Given the description of an element on the screen output the (x, y) to click on. 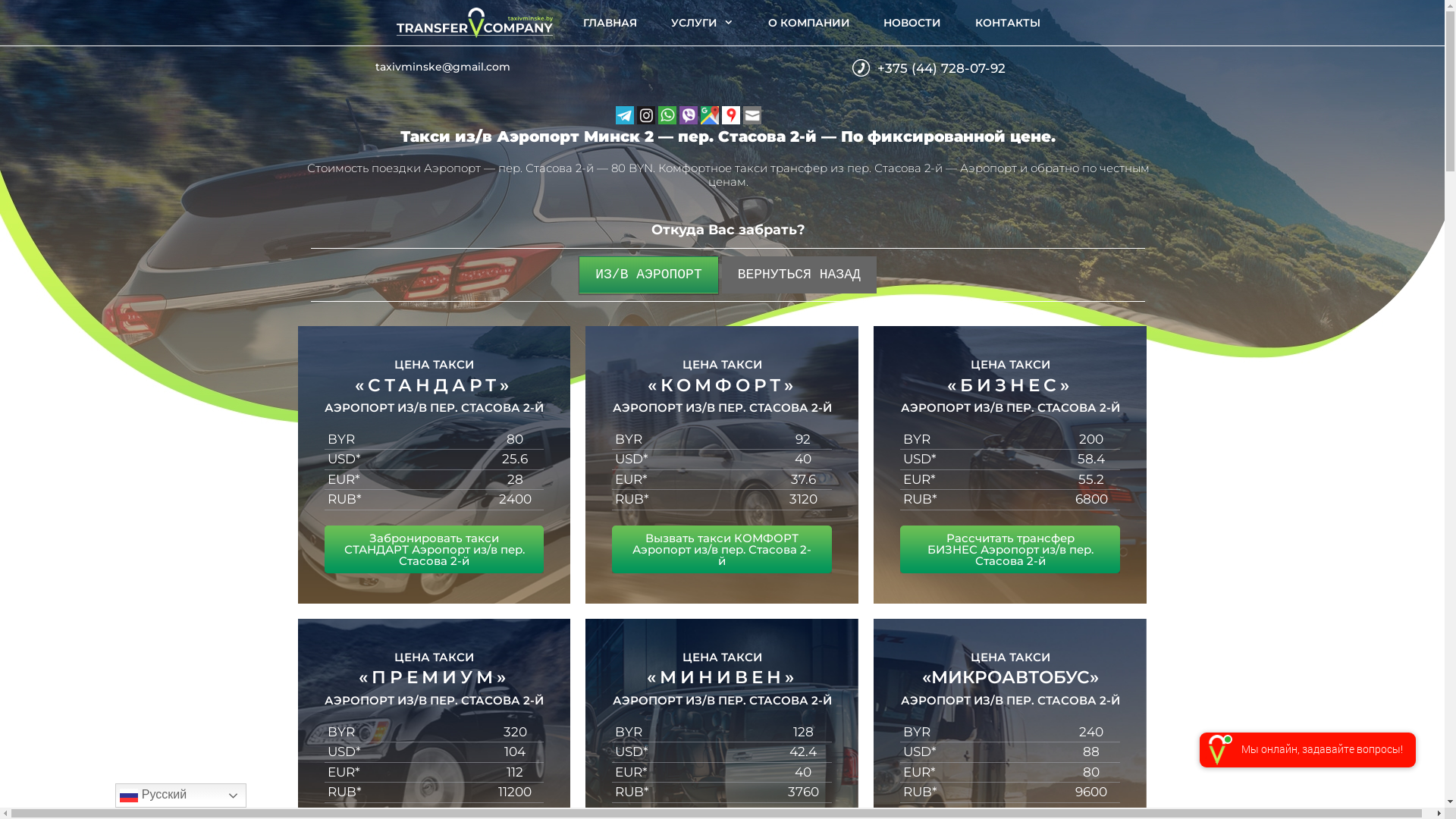
taxivminske@gmail.com Element type: text (442, 66)
+375 (44) 728-07-92 Element type: text (941, 67)
